Given the description of an element on the screen output the (x, y) to click on. 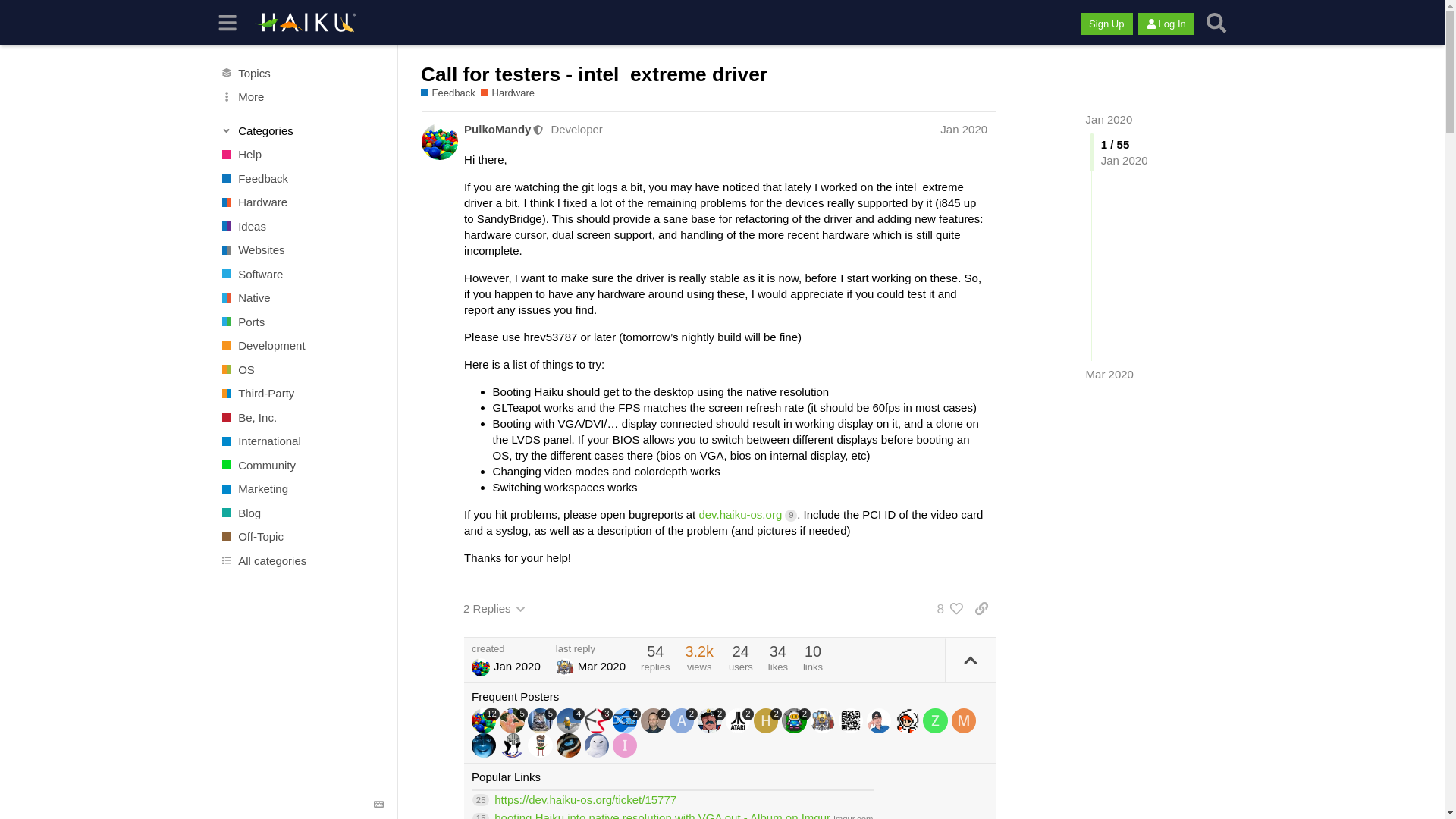
More (301, 96)
Ideas for the future of Haiku (301, 225)
Third-Party (301, 393)
Community (301, 465)
Categories (301, 130)
Toggle section (301, 130)
PulkoMandy (497, 129)
